Given the description of an element on the screen output the (x, y) to click on. 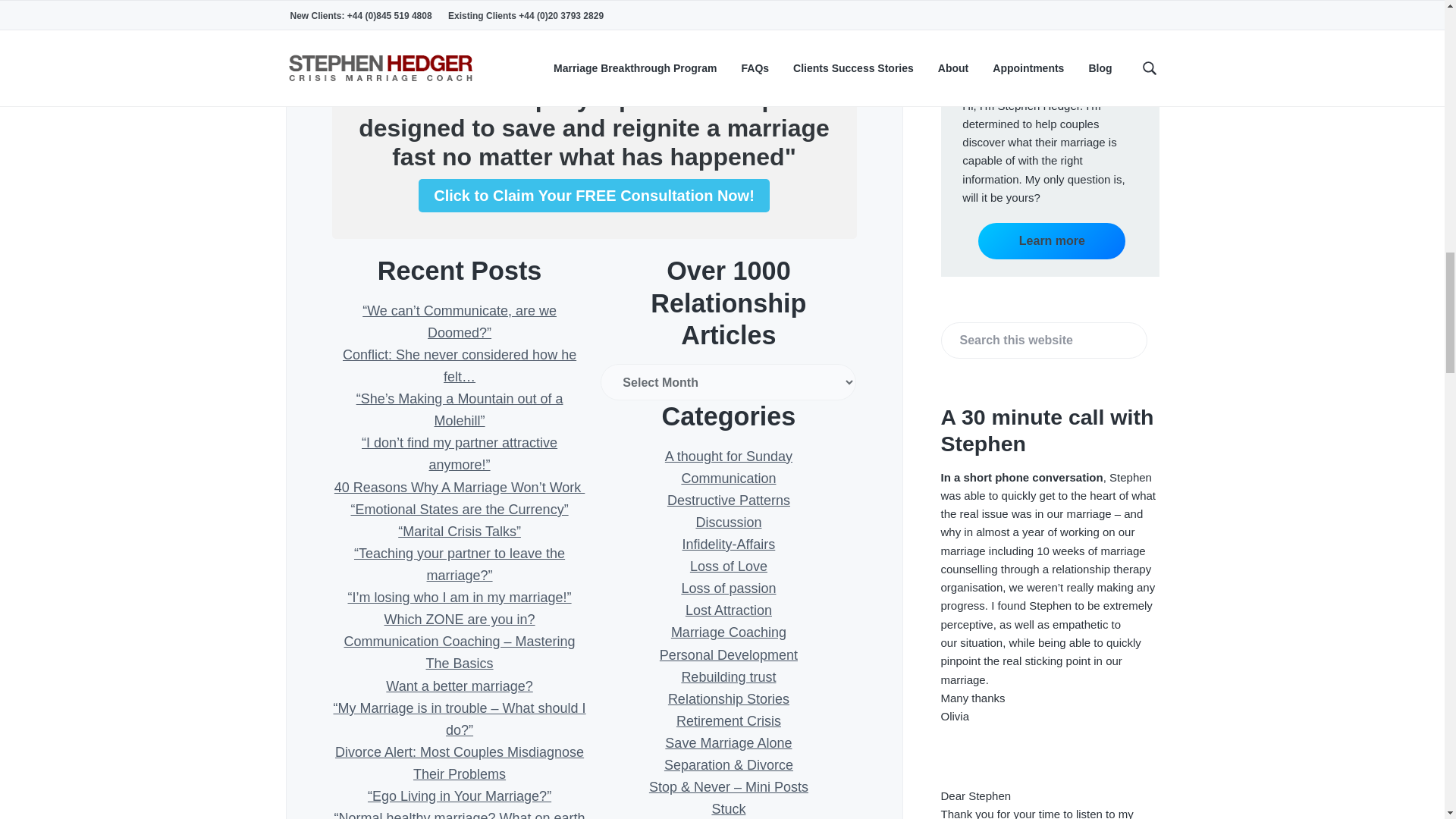
Want a better marriage? (458, 685)
Divorce Alert: Most Couples Misdiagnose Their Problems (458, 763)
Click to Claim Your FREE Consultation Now! (594, 195)
Which ZONE are you in? (459, 619)
